Given the description of an element on the screen output the (x, y) to click on. 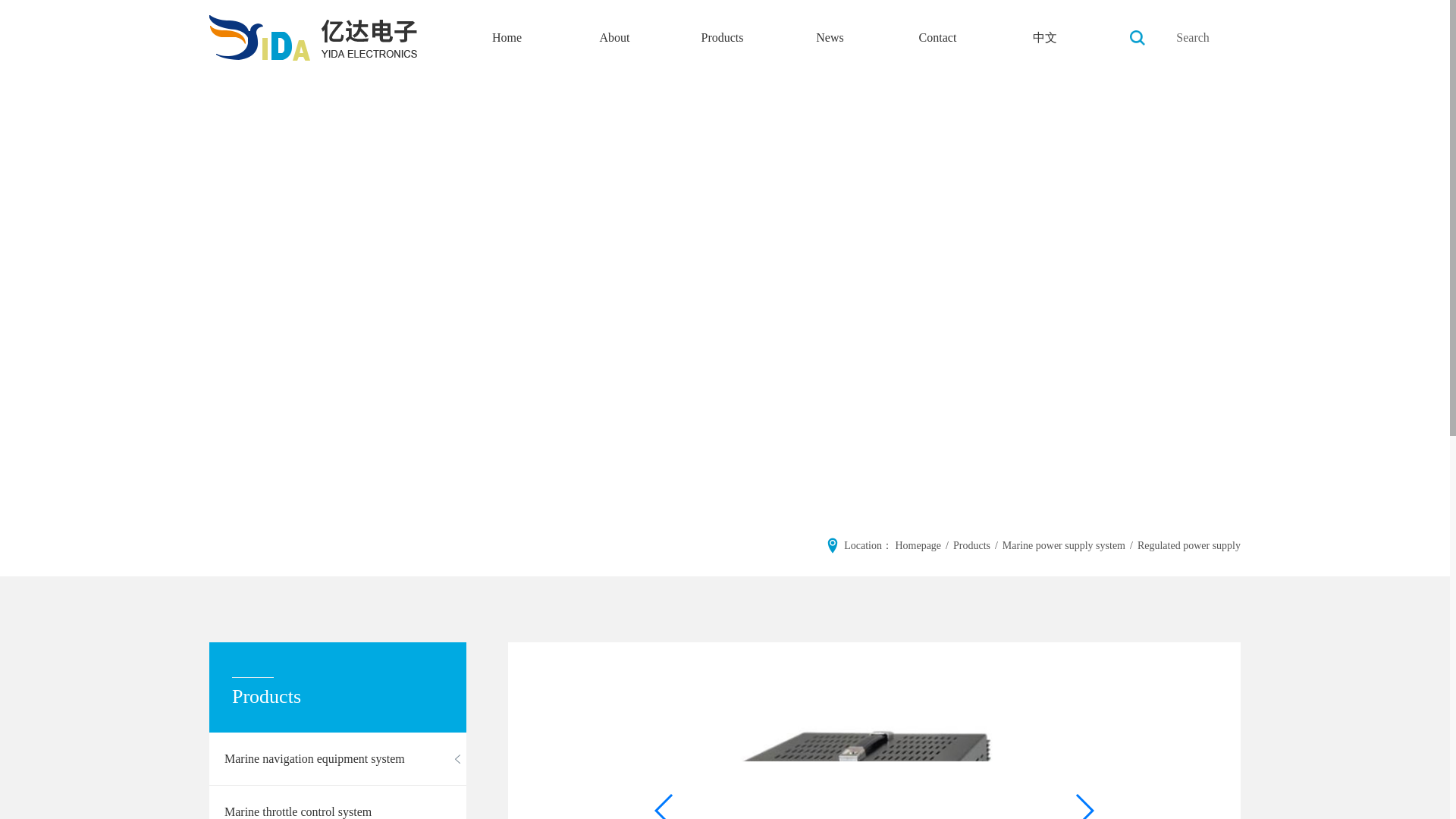
Yida (1136, 37)
Products (722, 38)
Home (506, 38)
About (614, 38)
Yida (312, 37)
